Given the description of an element on the screen output the (x, y) to click on. 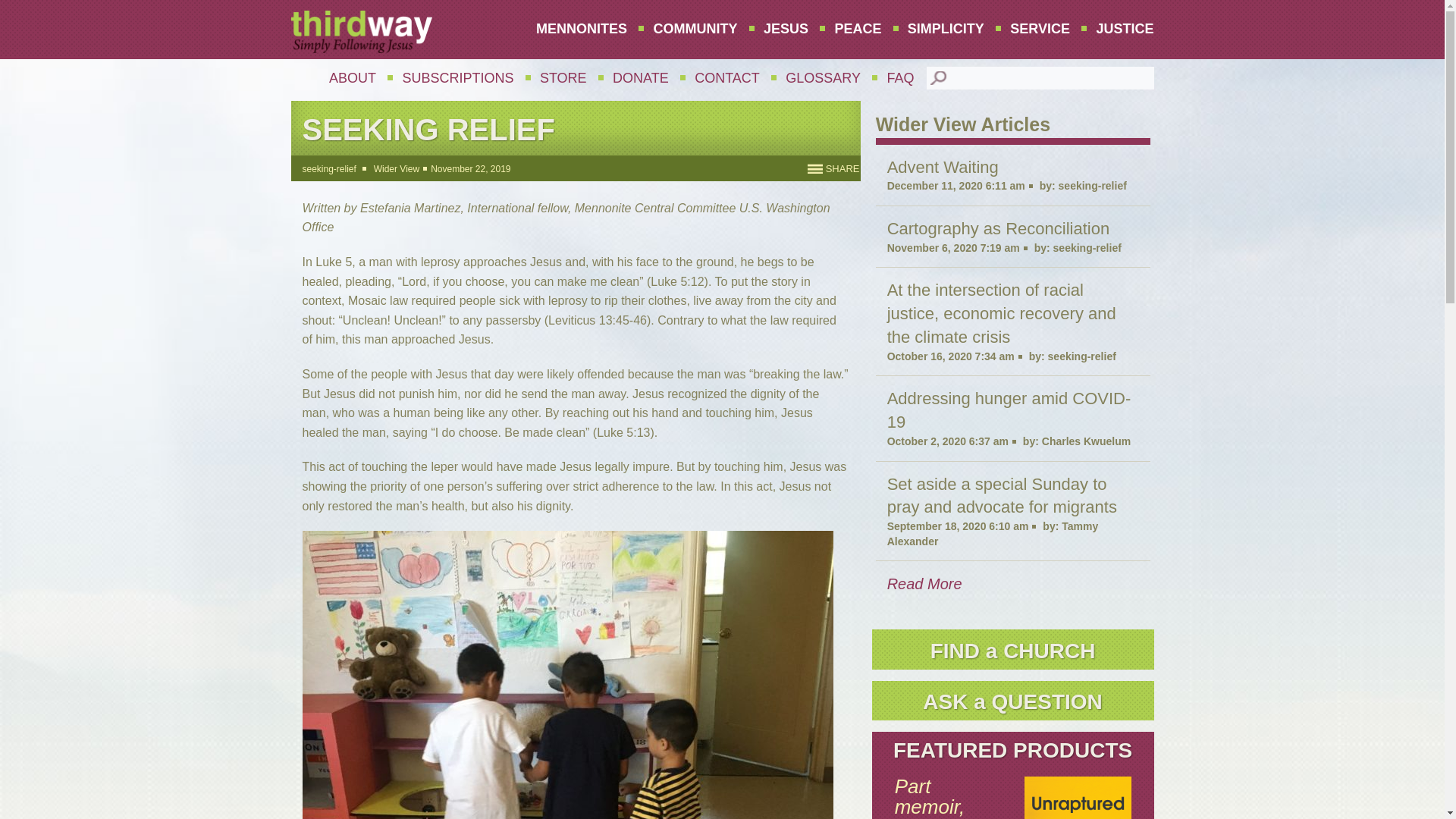
Third Way: Mennonite News (361, 31)
JESUS (785, 28)
CONTACT (726, 78)
SUBSCRIPTIONS (457, 78)
STORE (563, 78)
GLOSSARY (823, 78)
ABOUT (352, 78)
DONATE (640, 78)
seeking-relief (328, 168)
COMMUNITY (695, 28)
MENNONITES (581, 28)
Wider View (396, 168)
FAQ (899, 78)
SIMPLICITY (945, 28)
PEACE (857, 28)
